Given the description of an element on the screen output the (x, y) to click on. 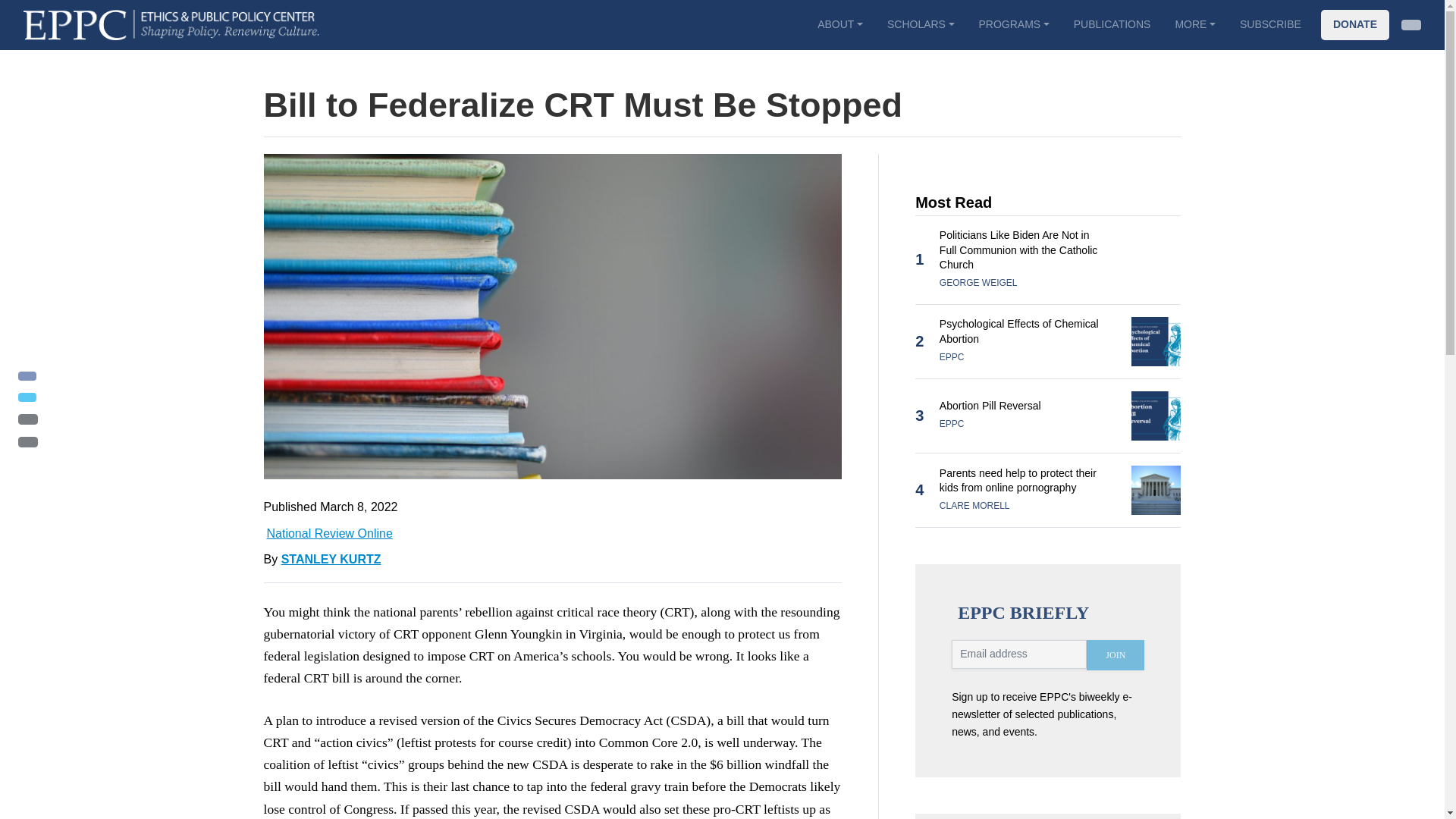
JOIN (1115, 654)
SCHOLARS (920, 24)
ABOUT (840, 24)
